Given the description of an element on the screen output the (x, y) to click on. 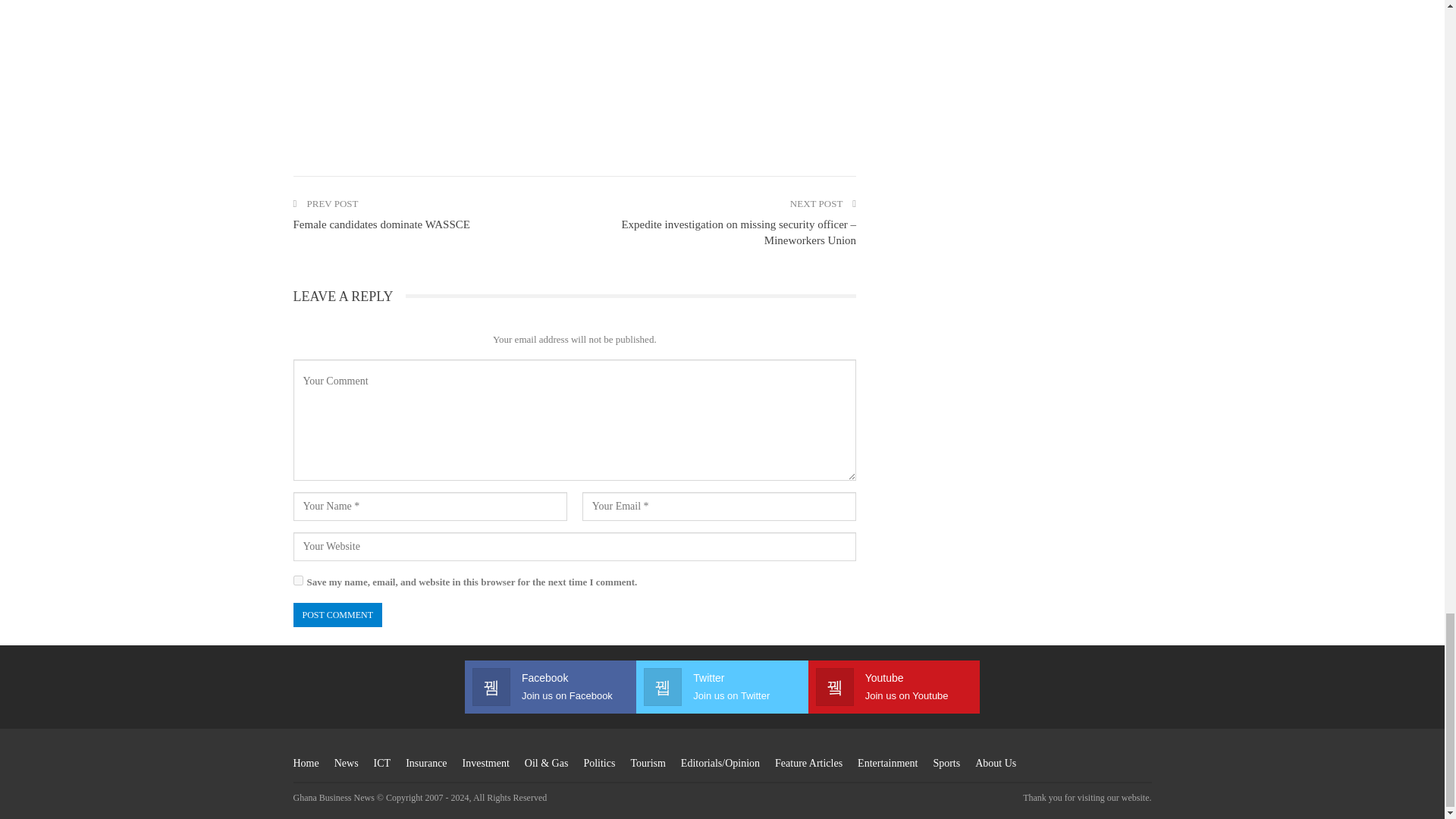
Female candidates dominate WASSCE (380, 224)
yes (297, 580)
Post Comment (336, 614)
Post Comment (336, 614)
